Given the description of an element on the screen output the (x, y) to click on. 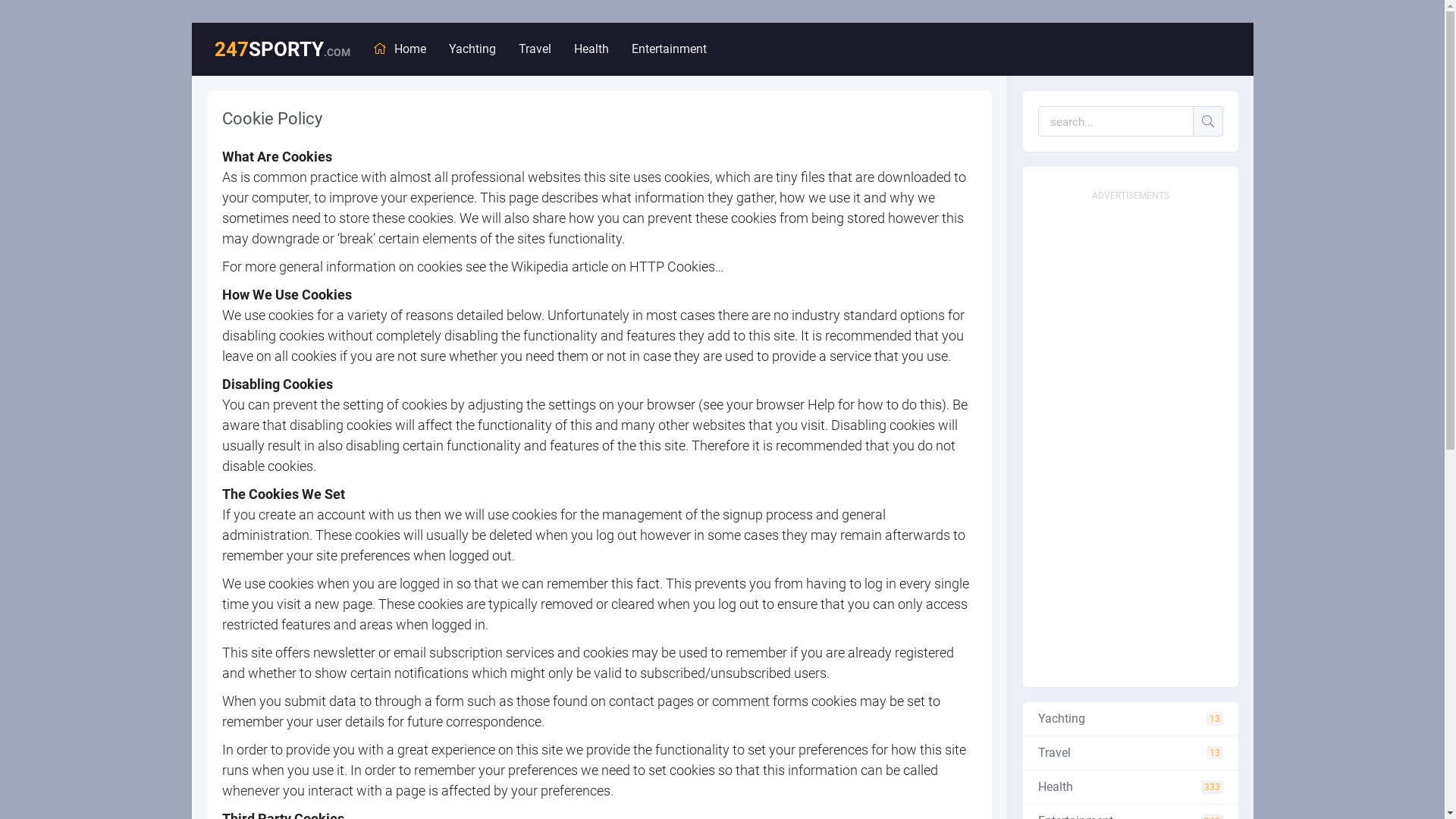
Entertainment Element type: text (668, 48)
Advertisement Element type: hover (1129, 434)
247SPORTY.COM Element type: text (281, 48)
Health Element type: text (590, 48)
Yachting Element type: text (471, 48)
Home Element type: text (399, 48)
Health Element type: text (1129, 787)
Travel Element type: text (534, 48)
Travel Element type: text (1129, 753)
Yachting Element type: text (1129, 719)
